Given the description of an element on the screen output the (x, y) to click on. 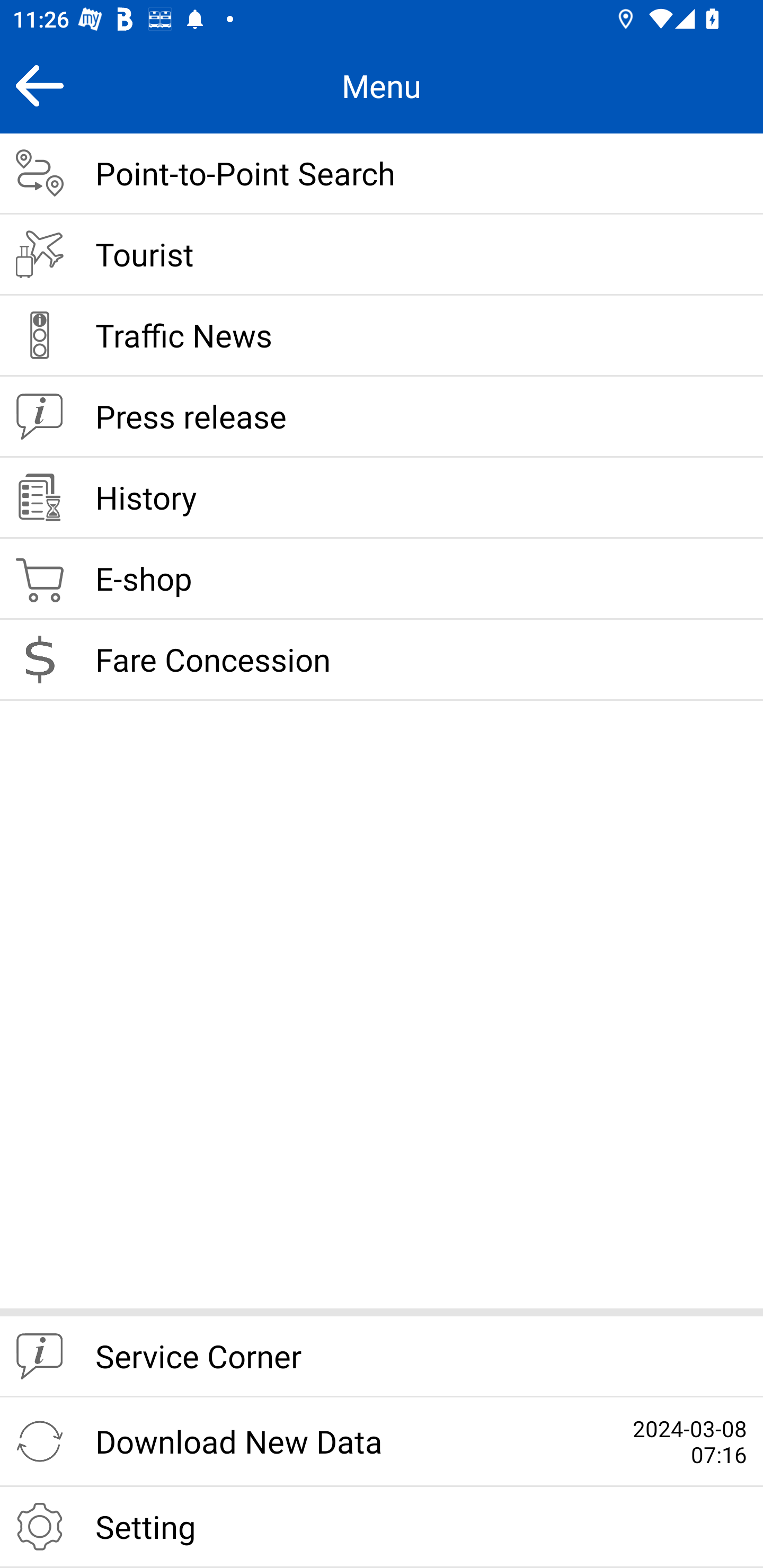
Back (39, 85)
Point-to-Point Search (381, 173)
Tourist (381, 255)
Traffic News (381, 336)
Press release (381, 416)
History (381, 498)
E-shop (381, 579)
Fare Concession (381, 659)
Service Corner (381, 1357)
Download New Data 2024-03-08
07:16 (381, 1441)
Setting (381, 1527)
